Given the description of an element on the screen output the (x, y) to click on. 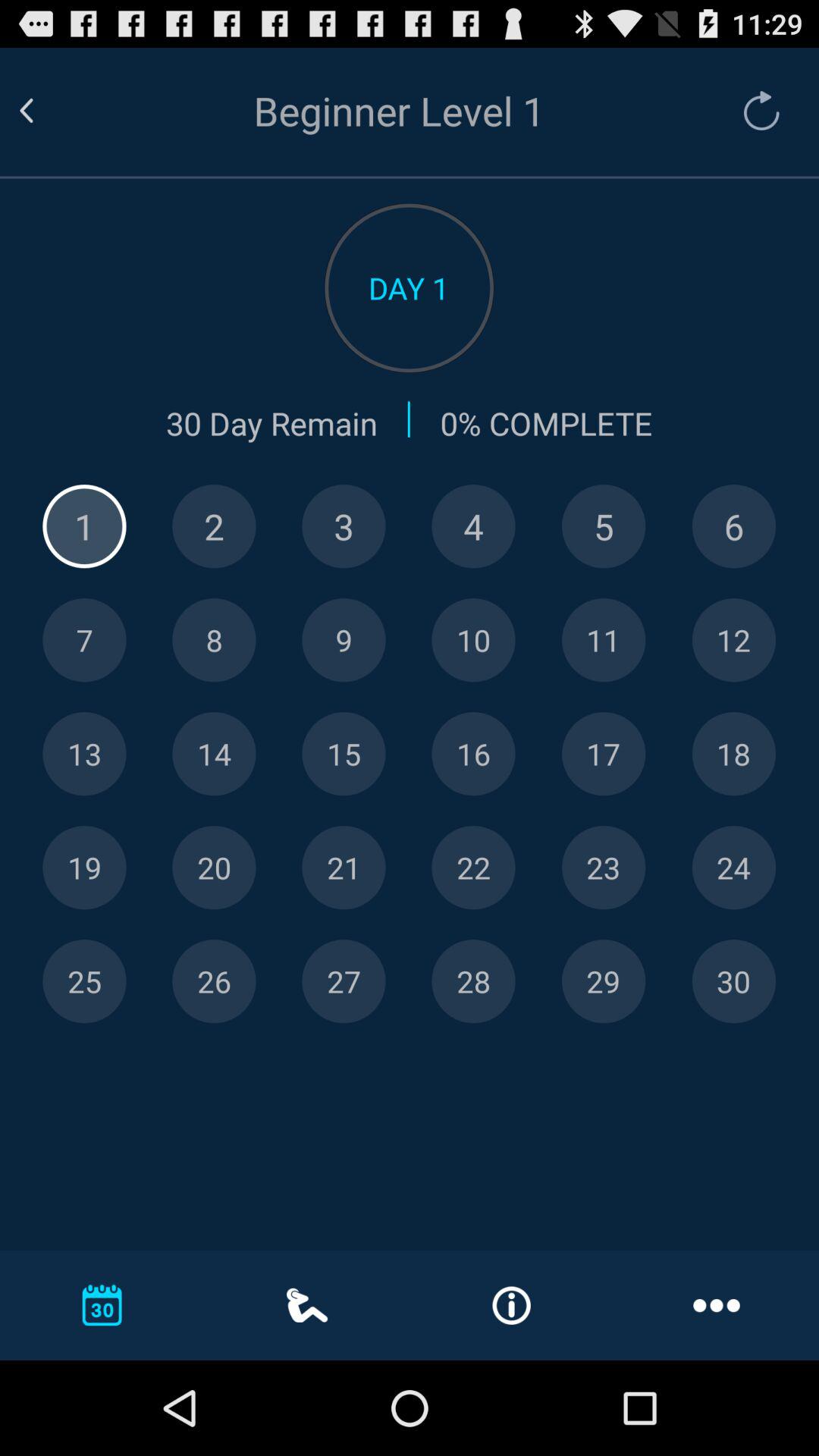
go to keyboard (84, 526)
